Given the description of an element on the screen output the (x, y) to click on. 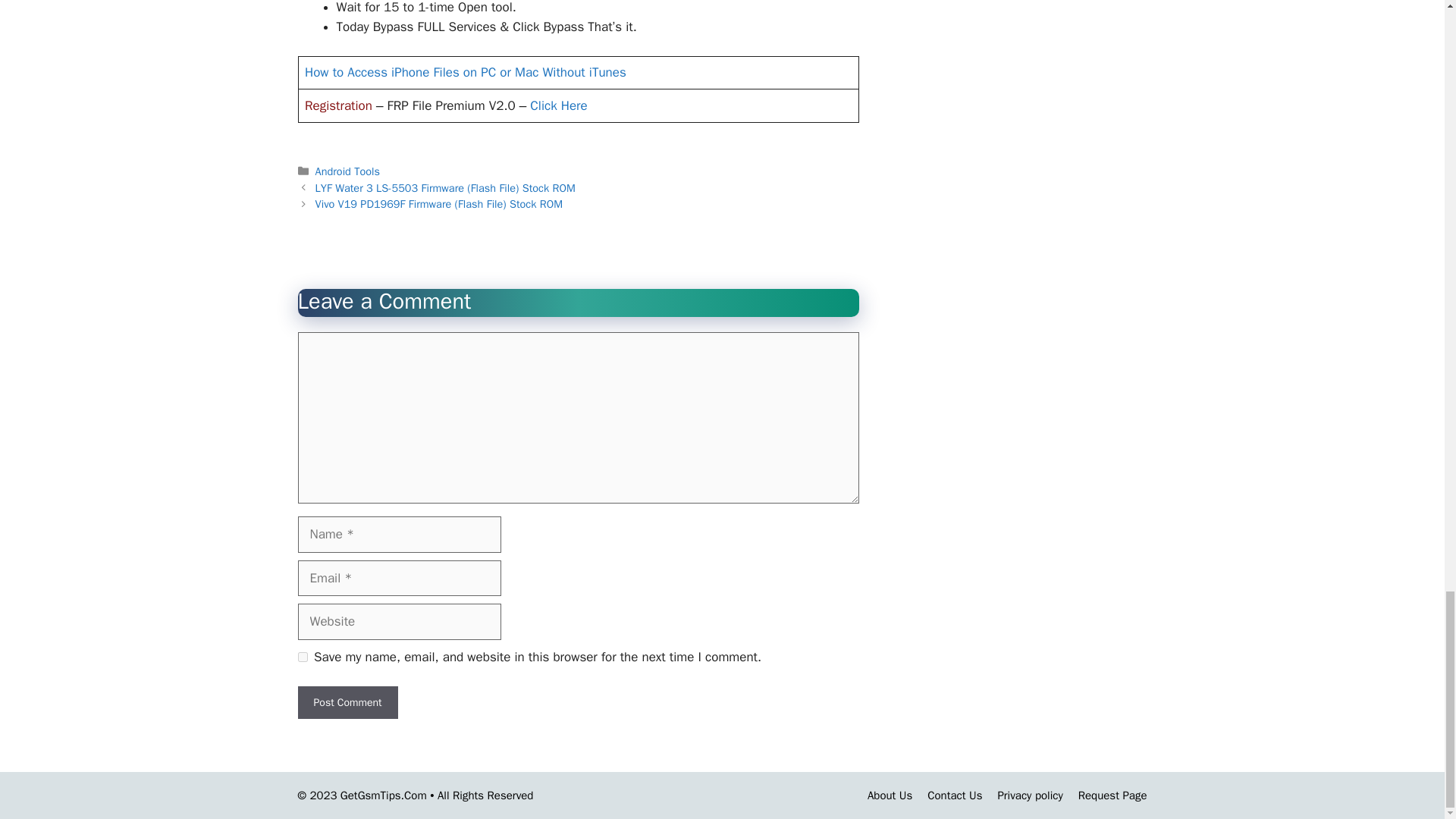
Post Comment (347, 702)
Click Here (557, 105)
Android Tools (347, 171)
Post Comment (347, 702)
How to Access iPhone Files on PC or Mac Without iTunes (465, 72)
yes (302, 656)
